Given the description of an element on the screen output the (x, y) to click on. 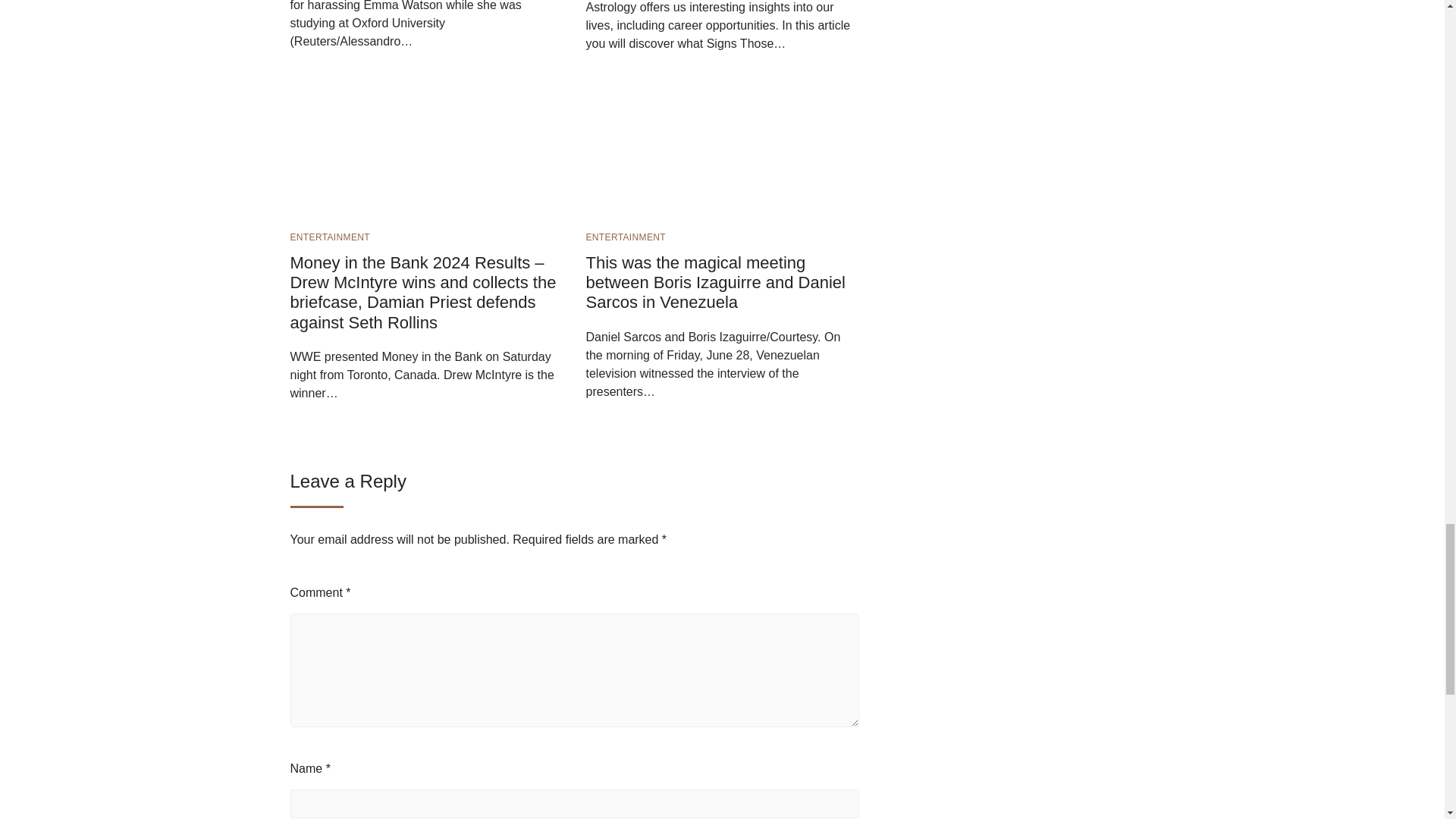
ENTERTAINMENT (329, 236)
ENTERTAINMENT (625, 236)
